Given the description of an element on the screen output the (x, y) to click on. 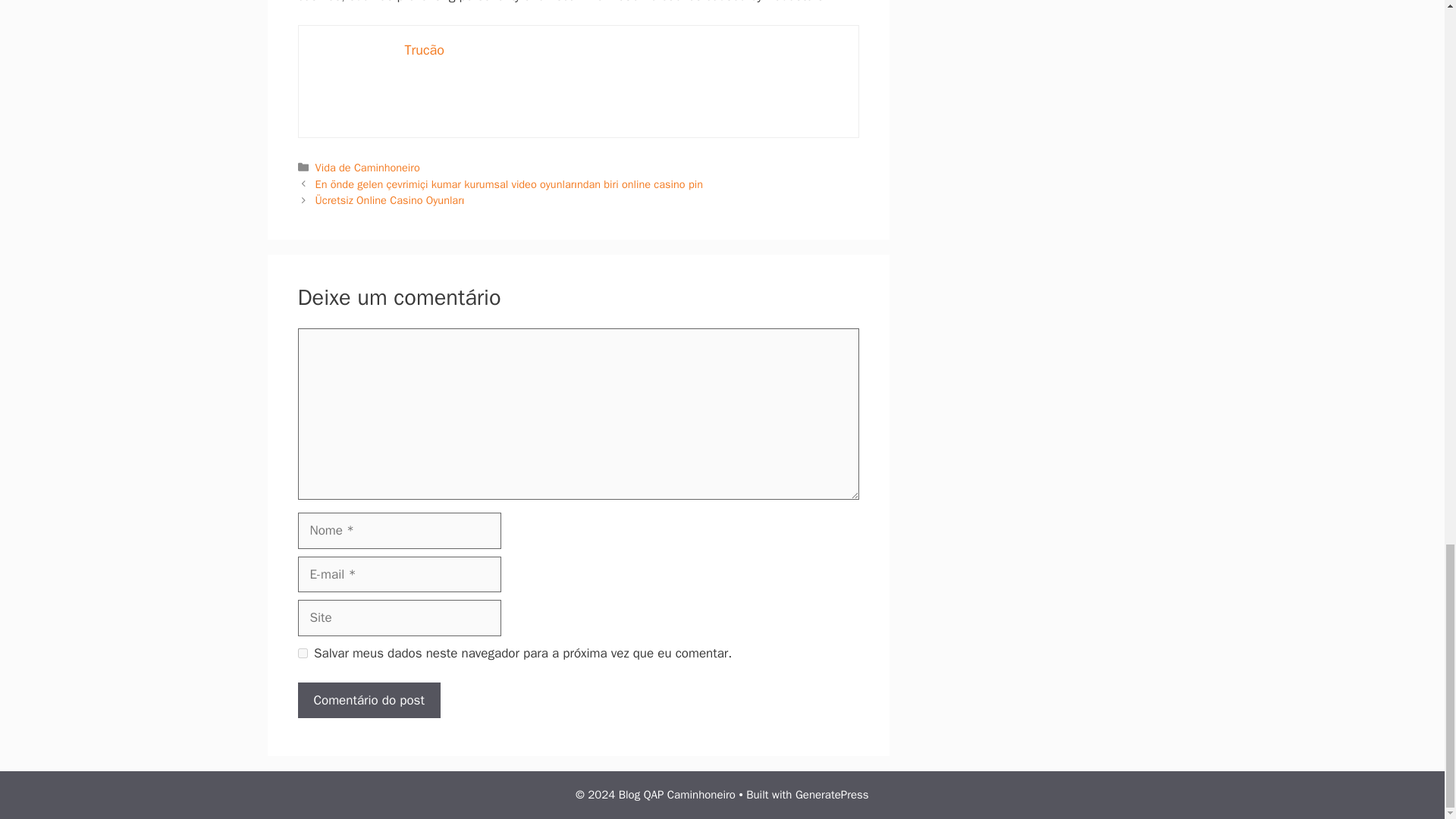
GeneratePress (831, 794)
Anterior (509, 183)
yes (302, 653)
Vida de Caminhoneiro (367, 167)
